Given the description of an element on the screen output the (x, y) to click on. 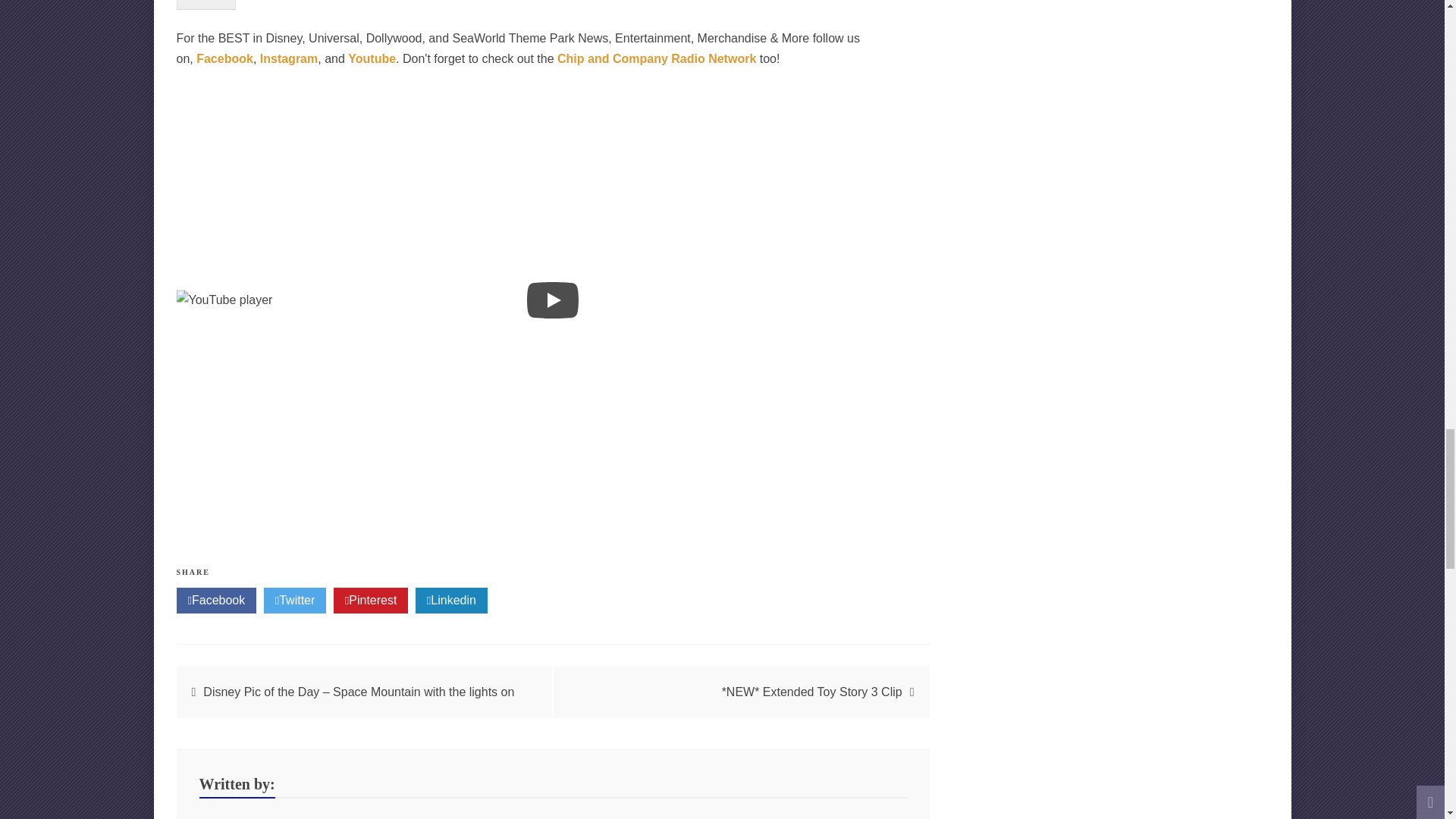
Submit (205, 4)
Posts by Chip (294, 816)
